Given the description of an element on the screen output the (x, y) to click on. 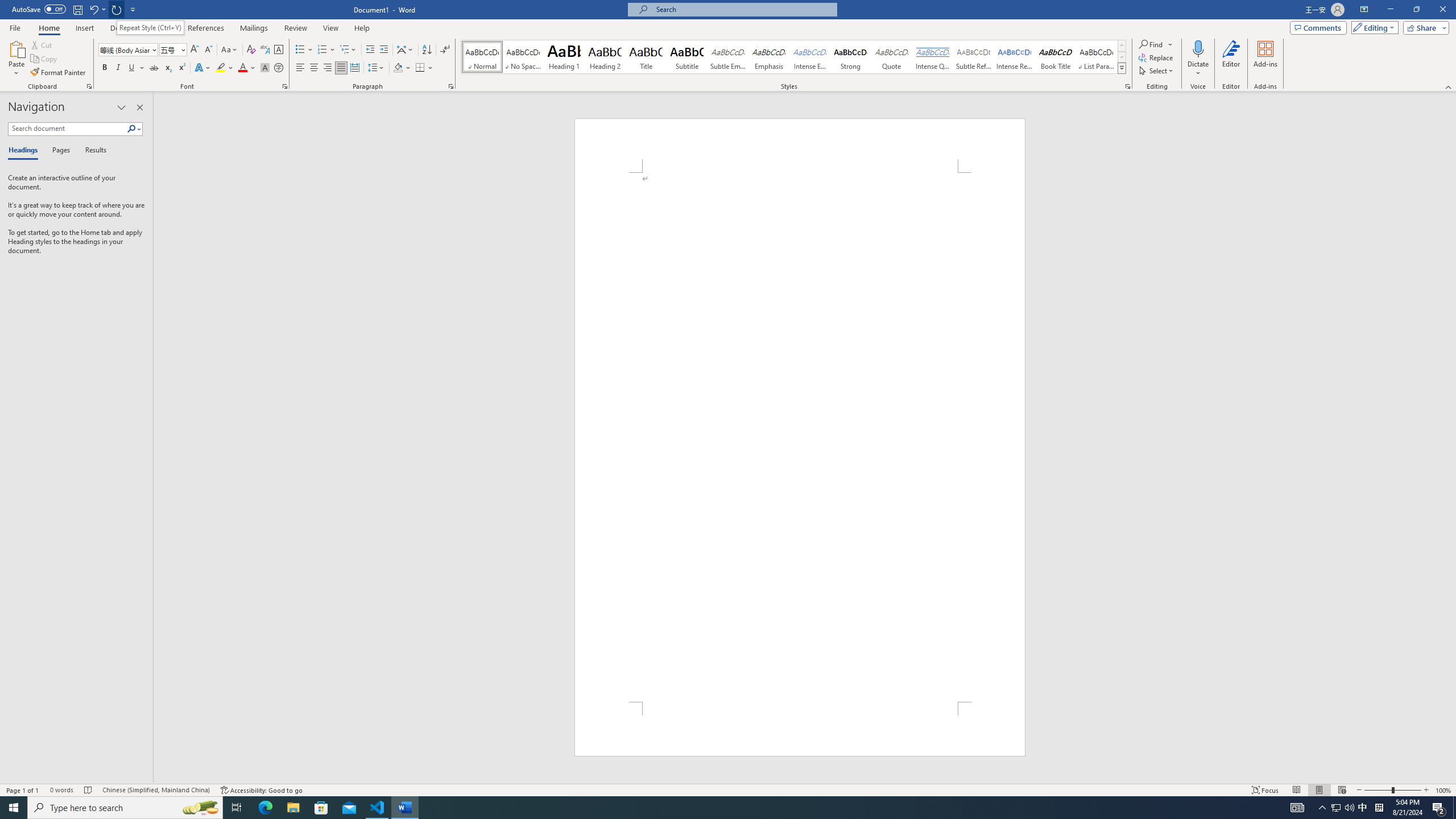
Subtle Emphasis (727, 56)
Dictate (1197, 58)
Dictate (1197, 48)
Close (1442, 9)
Shading RGB(0, 0, 0) (397, 67)
Results (91, 150)
Repeat Style (117, 9)
Microsoft search (742, 9)
Insert (83, 28)
Row up (1121, 45)
Shading (402, 67)
Layout (160, 28)
Multilevel List (347, 49)
Repeat Style (Ctrl+Y) (150, 27)
